Given the description of an element on the screen output the (x, y) to click on. 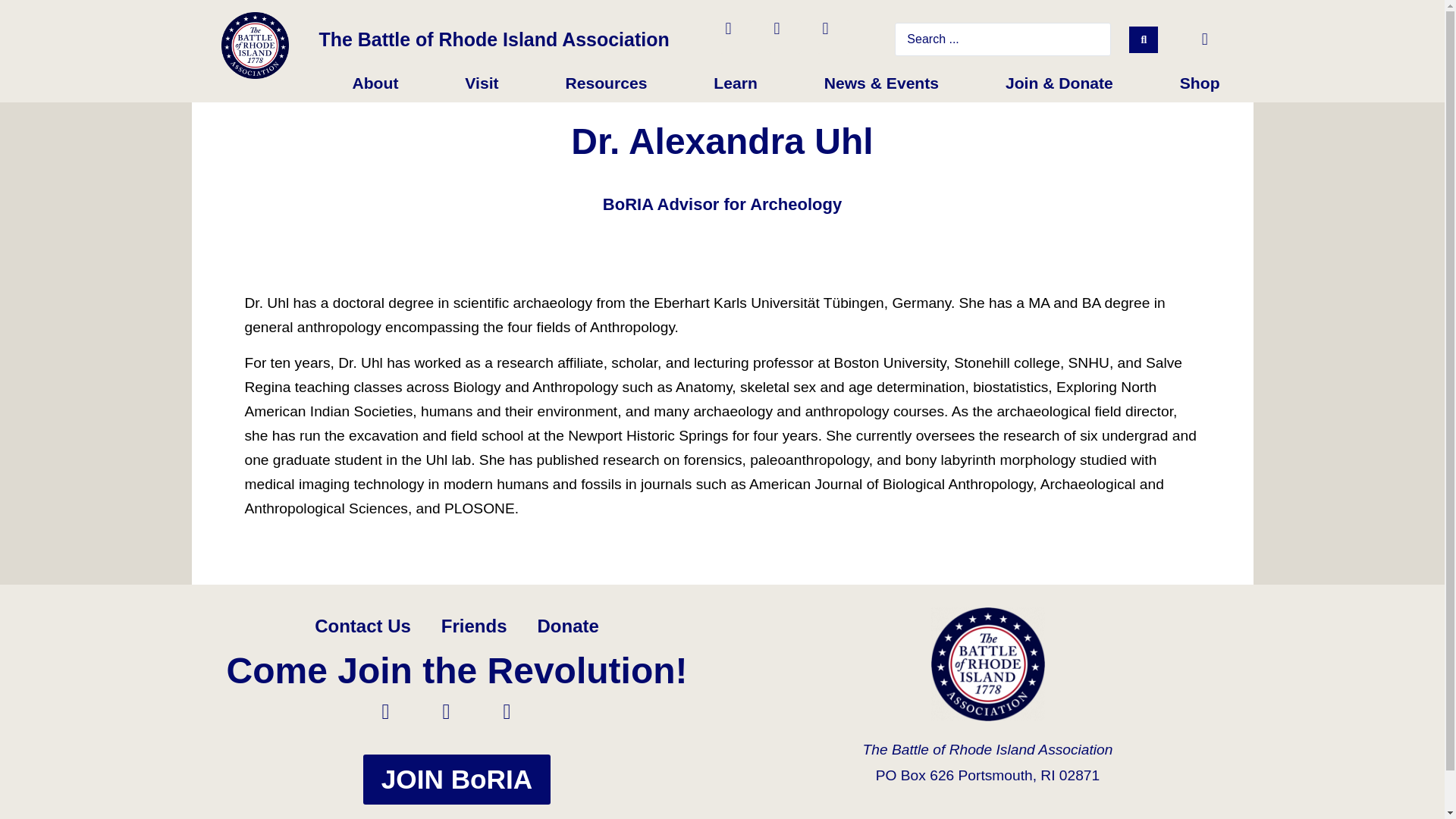
Resources (605, 83)
The Battle of Rhode Island Association (493, 38)
Learn (734, 83)
Visit (480, 83)
About (374, 83)
